Given the description of an element on the screen output the (x, y) to click on. 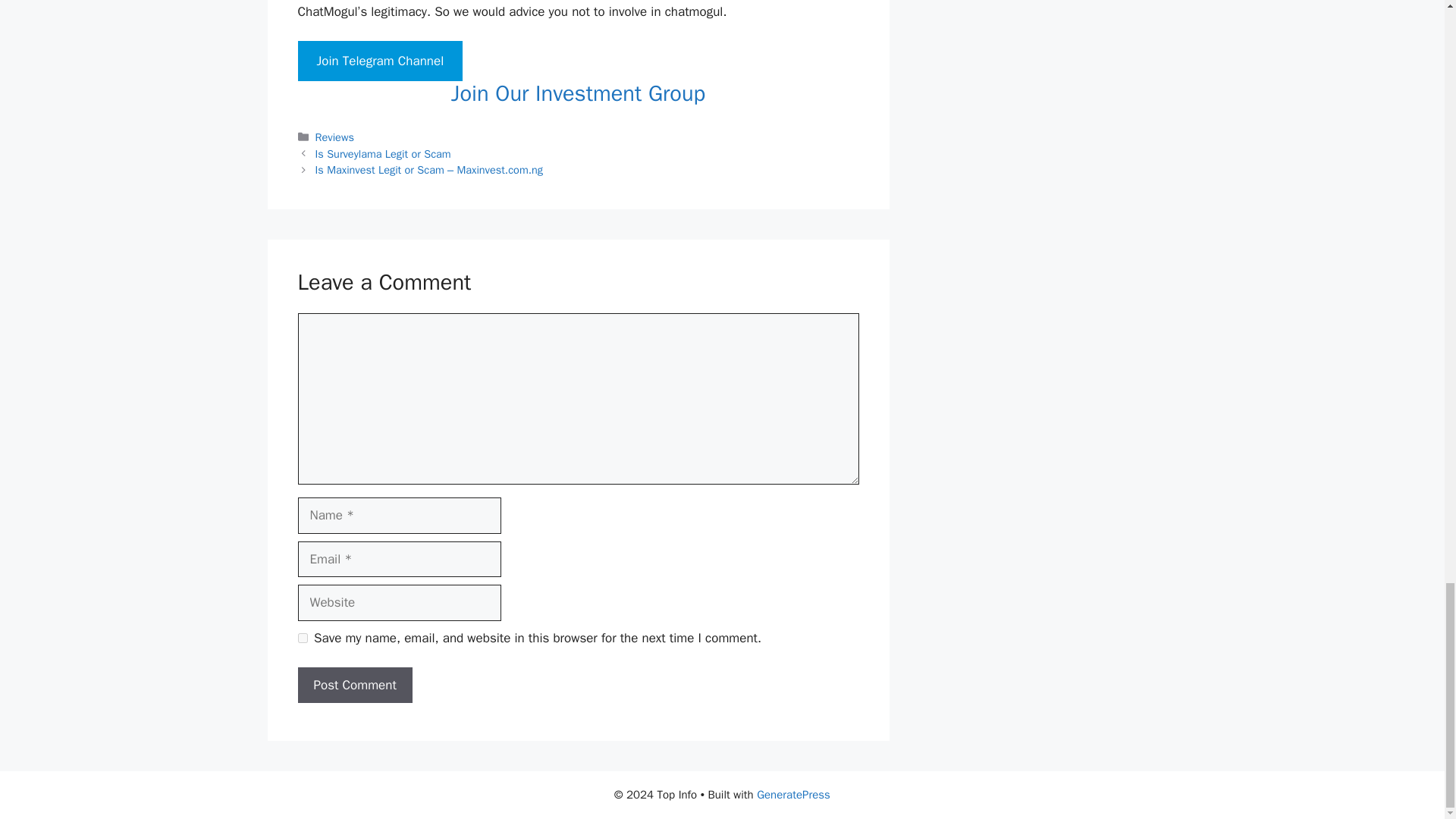
Join Telegram Channel (380, 60)
Reviews (334, 137)
Post Comment (354, 685)
Post Comment (354, 685)
yes (302, 637)
Previous (383, 153)
Next (429, 169)
Join Our Investment Group (577, 93)
Is Surveylama Legit or Scam (383, 153)
